Given the description of an element on the screen output the (x, y) to click on. 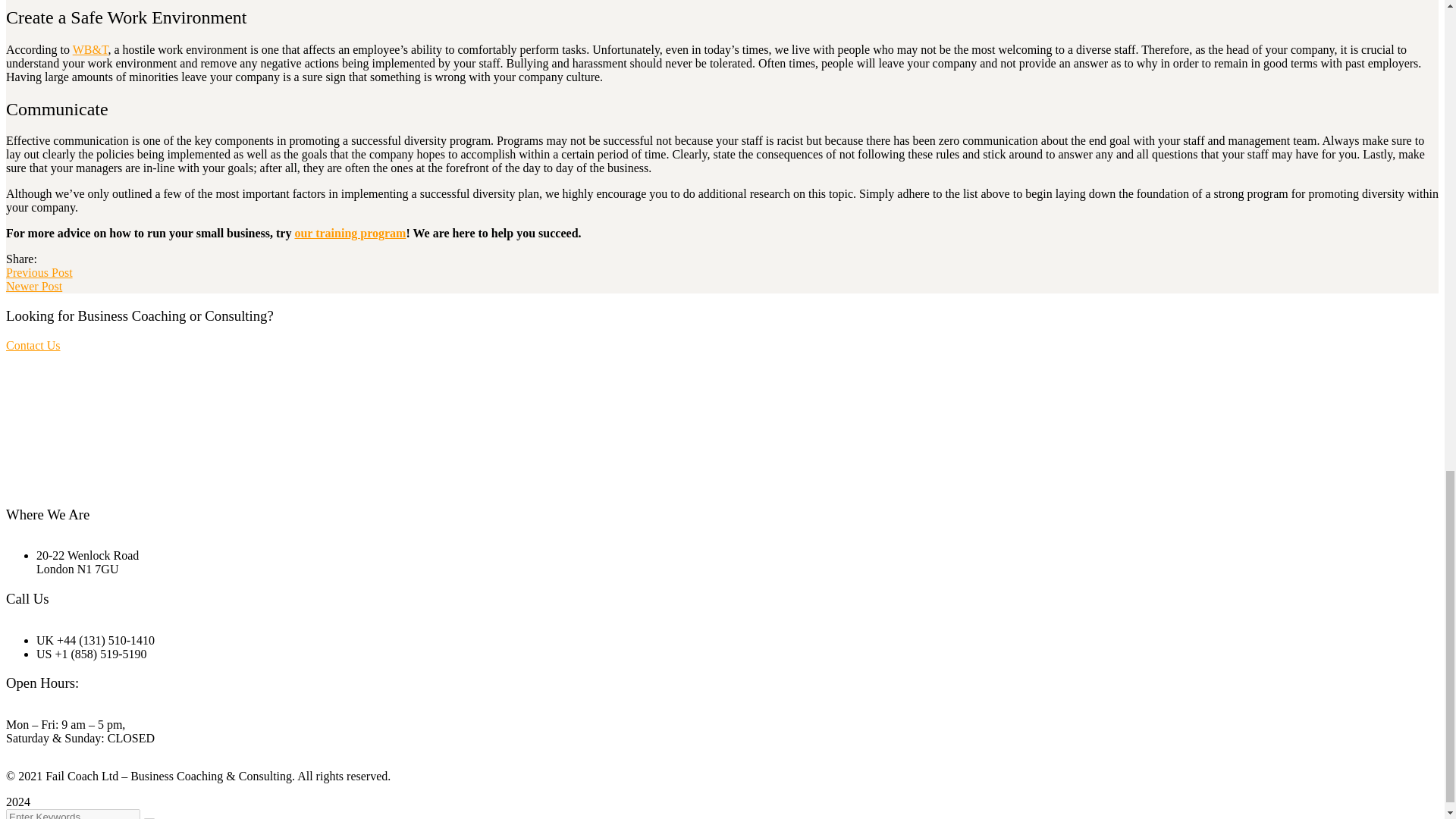
our training program (350, 232)
